Given the description of an element on the screen output the (x, y) to click on. 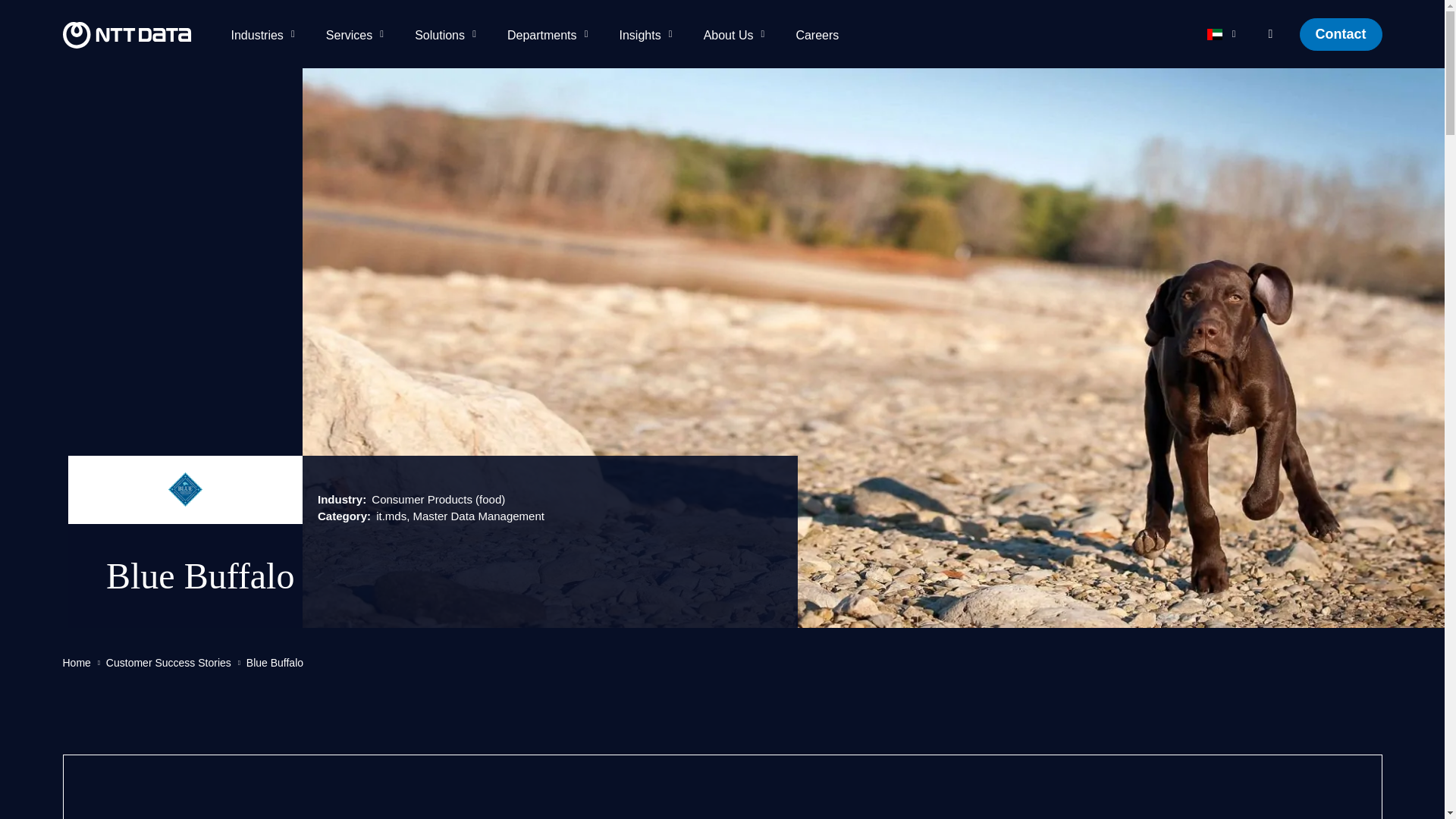
Services (357, 33)
Solutions (448, 33)
Industries (266, 33)
Departments (550, 33)
